Given the description of an element on the screen output the (x, y) to click on. 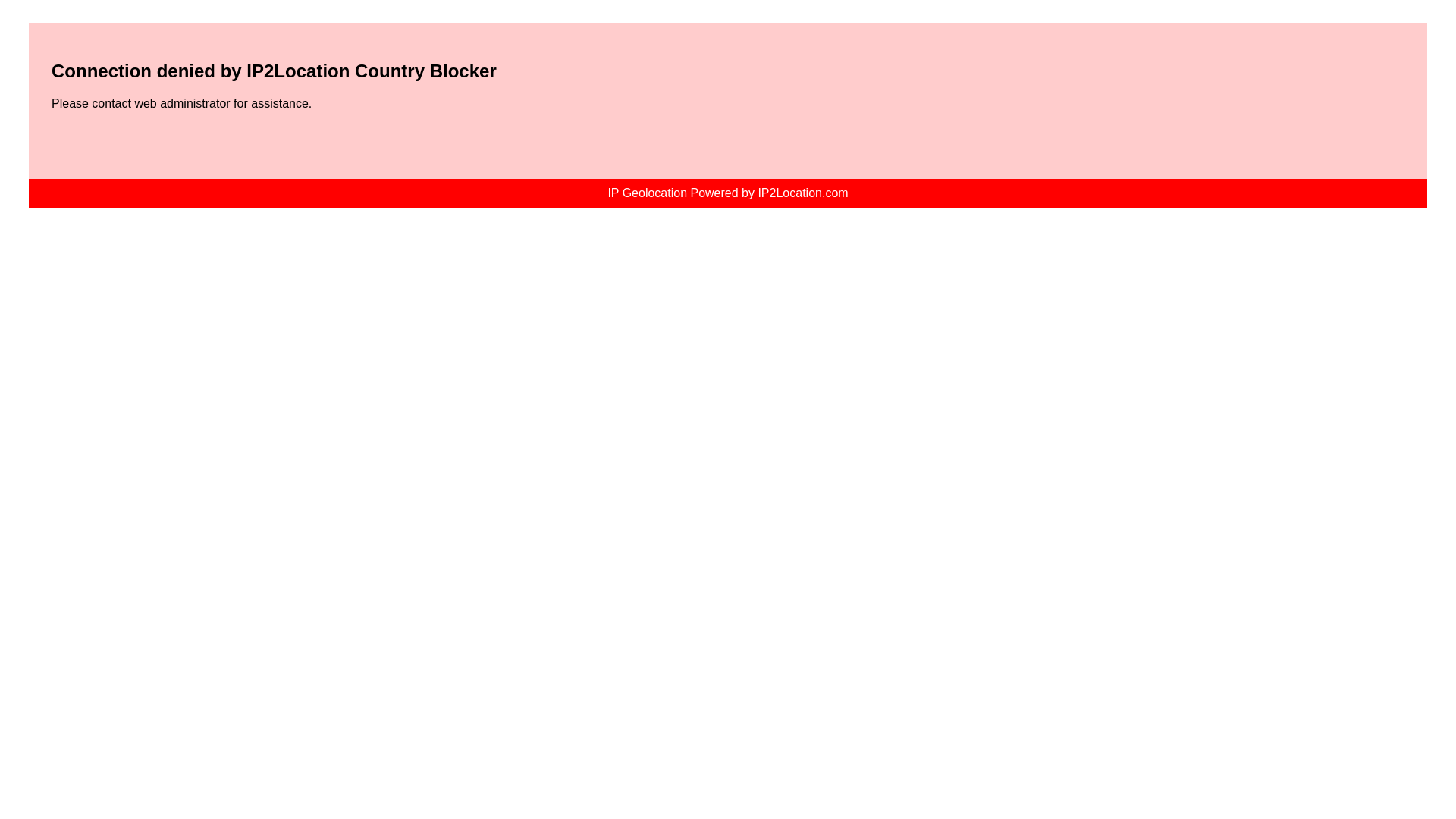
IP Geolocation Powered by IP2Location.com (727, 192)
